Given the description of an element on the screen output the (x, y) to click on. 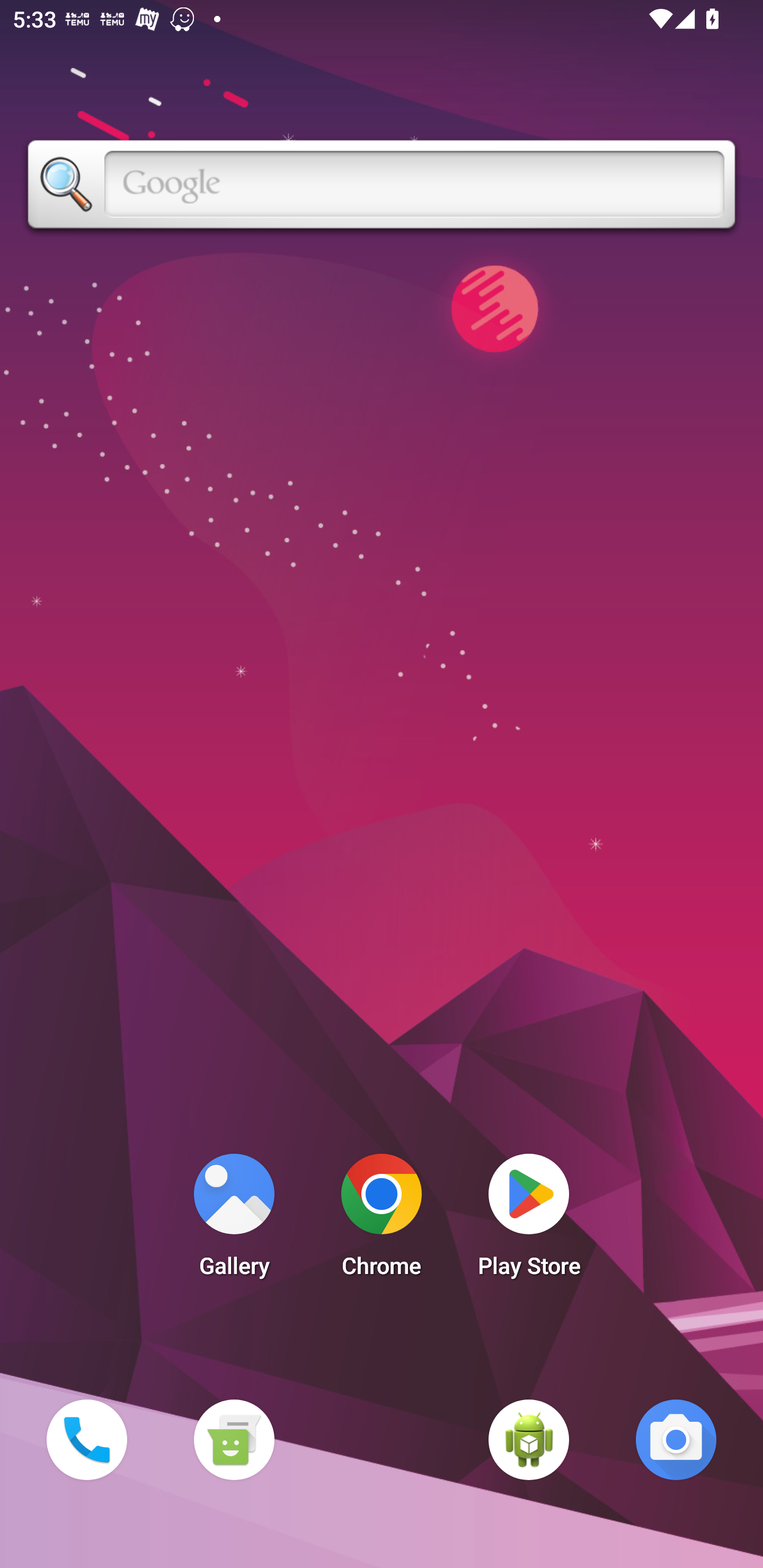
Gallery (233, 1220)
Chrome (381, 1220)
Play Store (528, 1220)
Phone (86, 1439)
Messaging (233, 1439)
WebView Browser Tester (528, 1439)
Camera (676, 1439)
